Given the description of an element on the screen output the (x, y) to click on. 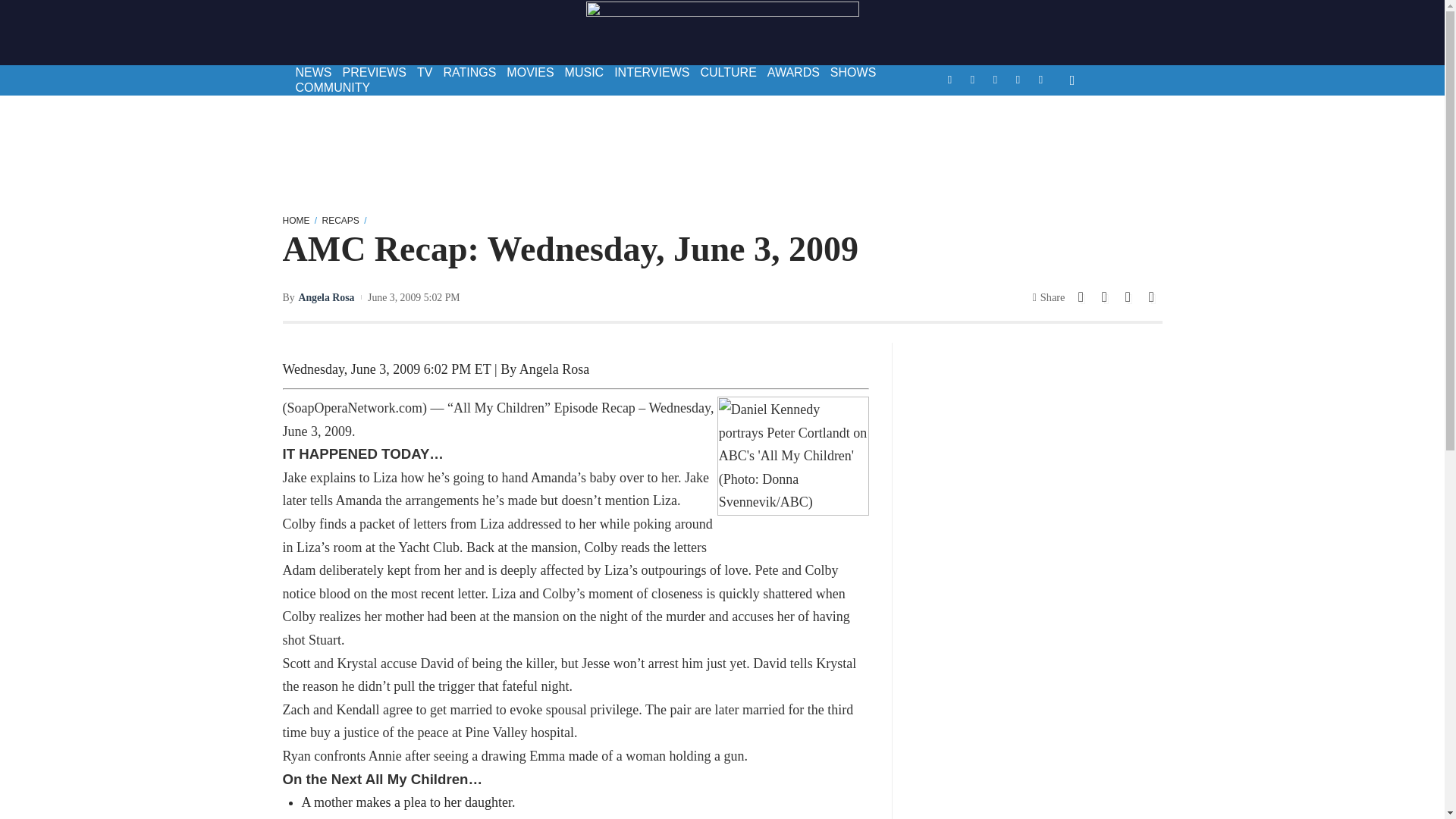
NEWS (312, 72)
CULTURE (727, 72)
PREVIEWS (373, 72)
MOVIES (529, 72)
COMMUNITY (332, 87)
SHOWS (852, 72)
TV (425, 72)
INTERVIEWS (651, 72)
AWARDS (793, 72)
MUSIC (584, 72)
RATINGS (469, 72)
